Given the description of an element on the screen output the (x, y) to click on. 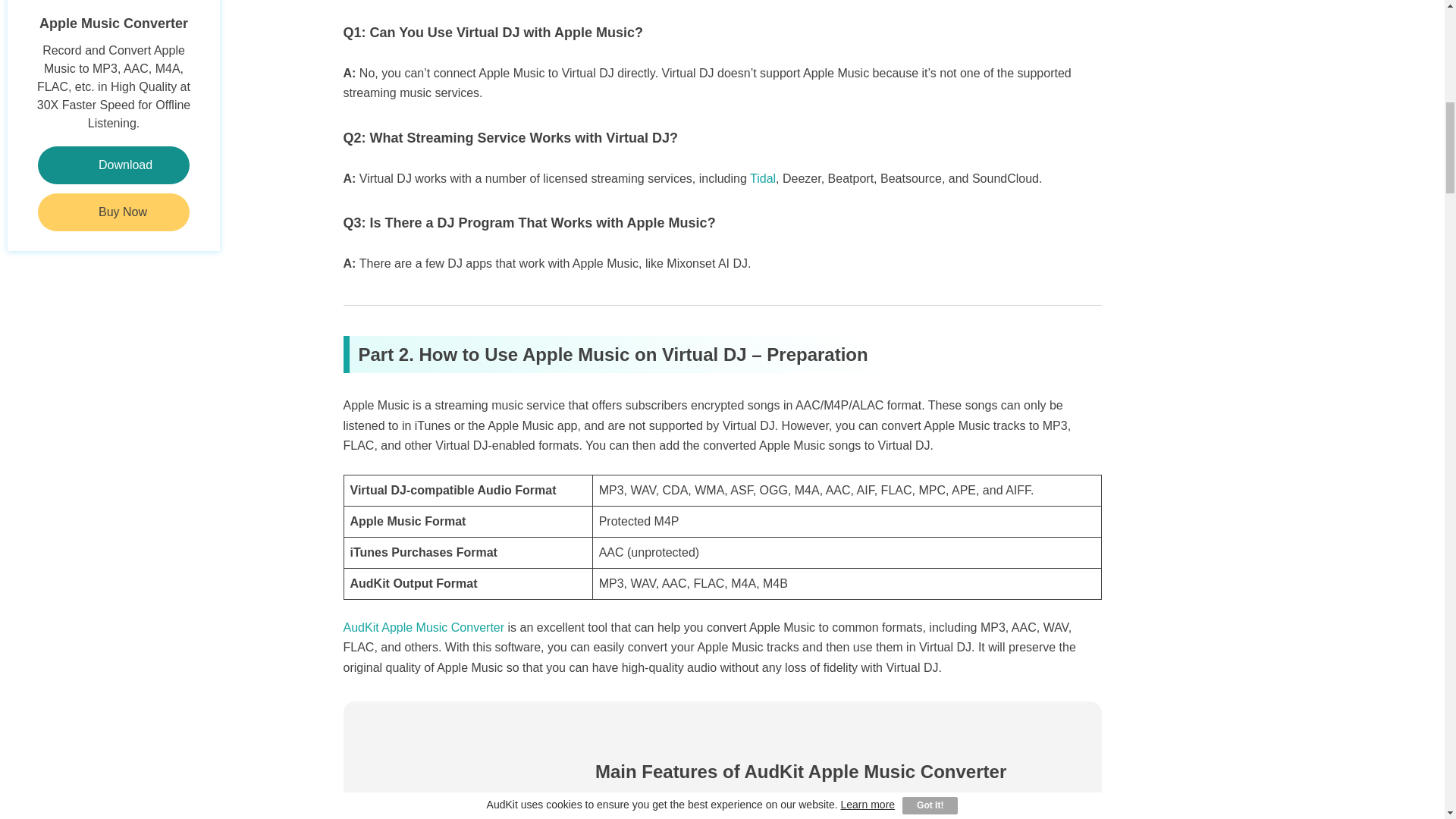
AudKit Apple Music Converter (422, 626)
Apple Music Converter (113, 17)
Tidal (762, 178)
